Given the description of an element on the screen output the (x, y) to click on. 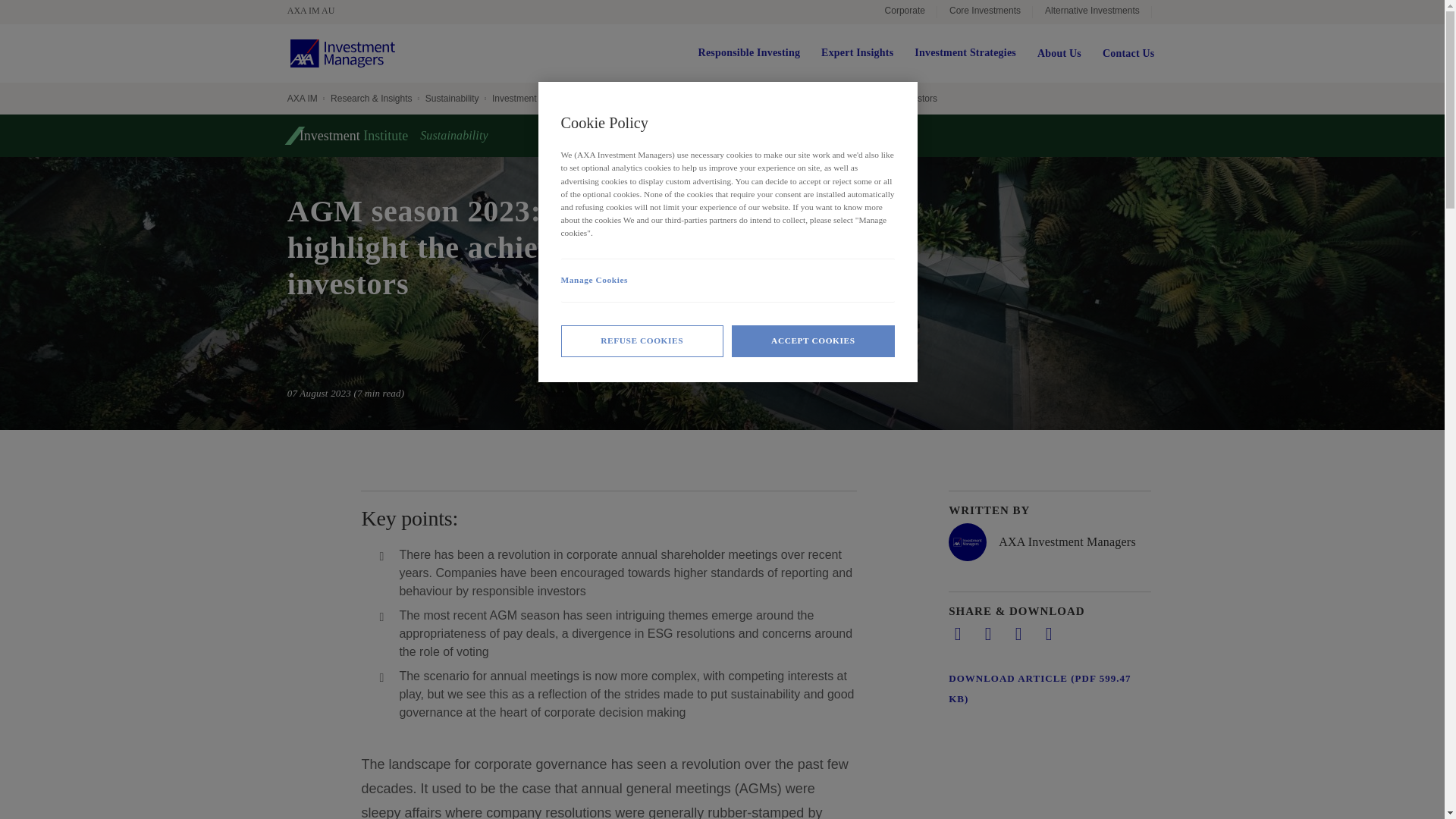
Expert Insights (857, 53)
Home (341, 53)
AXA IM (301, 98)
Responsible Investing (749, 53)
Copy URL (1048, 633)
Share on twitter (987, 633)
Investment Institute (531, 98)
Alternative Investments (1091, 12)
Sustainability (452, 98)
About Us (1058, 53)
Investment Strategies (965, 53)
Contact Us (1128, 53)
Core Investments (984, 12)
Shared by mail (1018, 633)
AXA IM AU (318, 10)
